Given the description of an element on the screen output the (x, y) to click on. 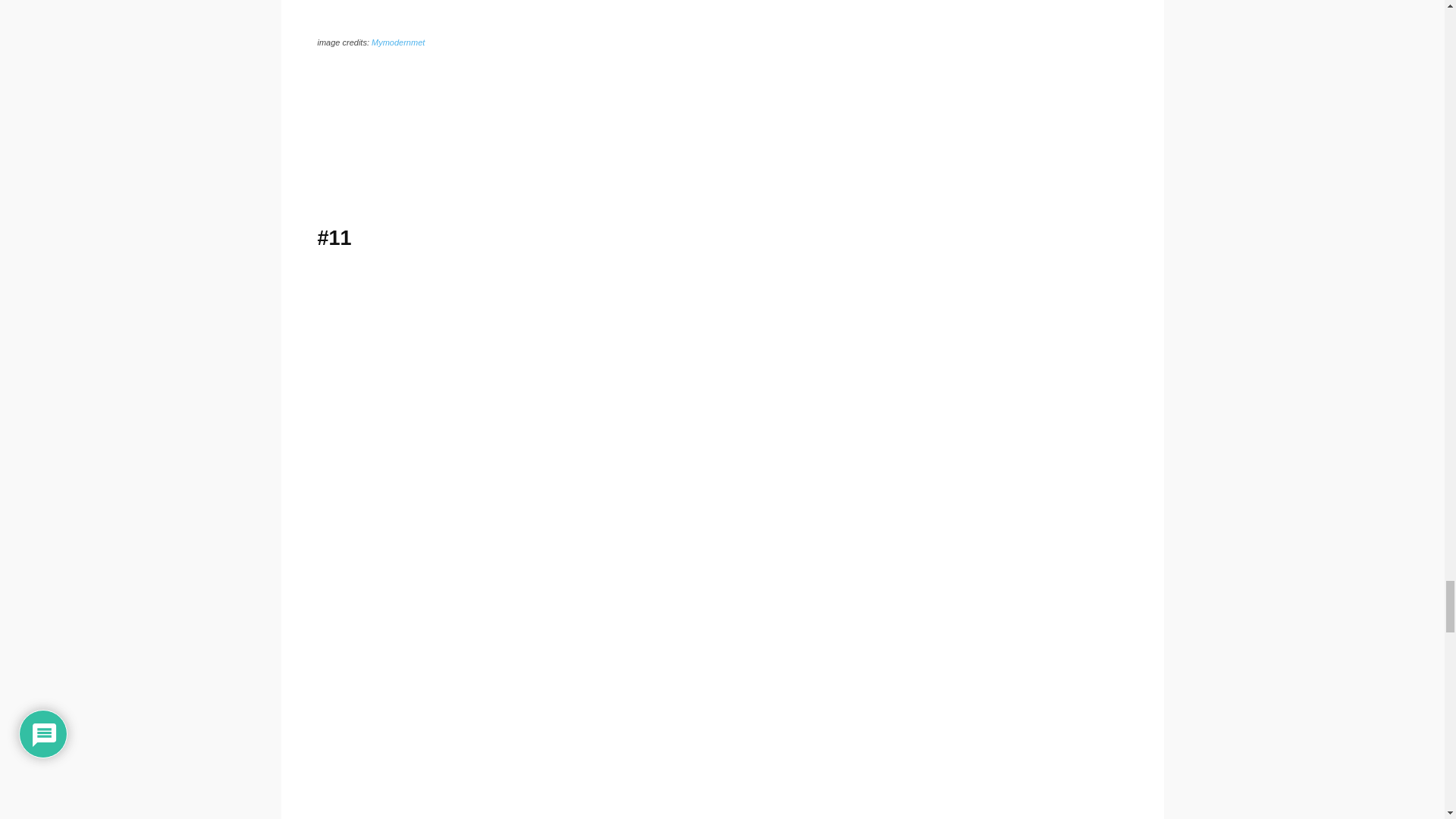
Mymodernmet (398, 41)
